Given the description of an element on the screen output the (x, y) to click on. 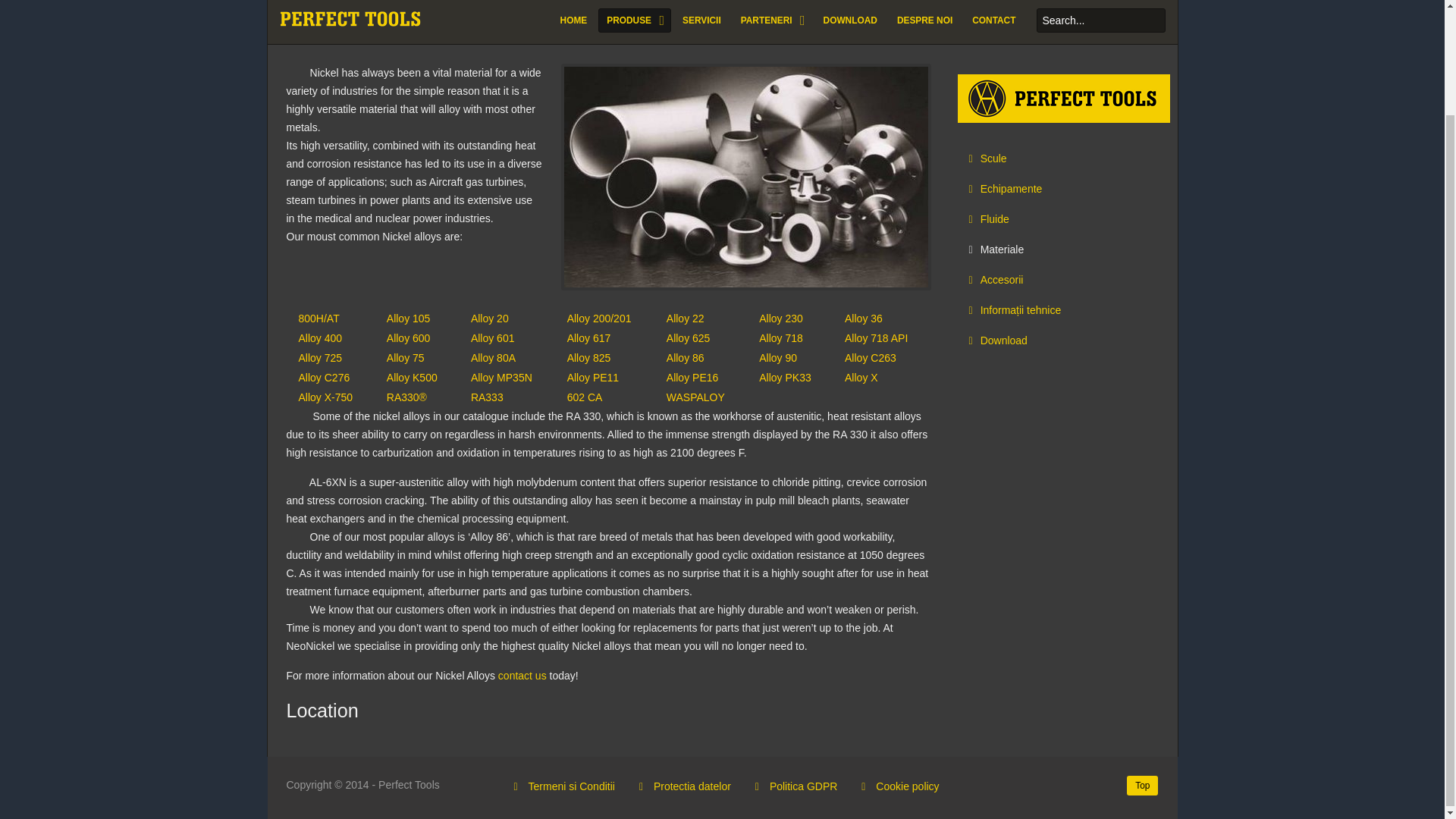
Alloy 105 (408, 318)
Alloy 80A (493, 357)
Alloy 725 (319, 357)
Alloy 600 (408, 337)
Alloy 20 (489, 318)
Alloy 230 (780, 318)
Alloy 601 (492, 337)
PRODUSE (633, 21)
Alloy 36 (862, 318)
Alloy 617 (589, 337)
Alloy 22 (685, 318)
Alloy 75 (405, 357)
Alloy 718 API (875, 337)
Alloy 718 (780, 337)
Alloy 625 (688, 337)
